Given the description of an element on the screen output the (x, y) to click on. 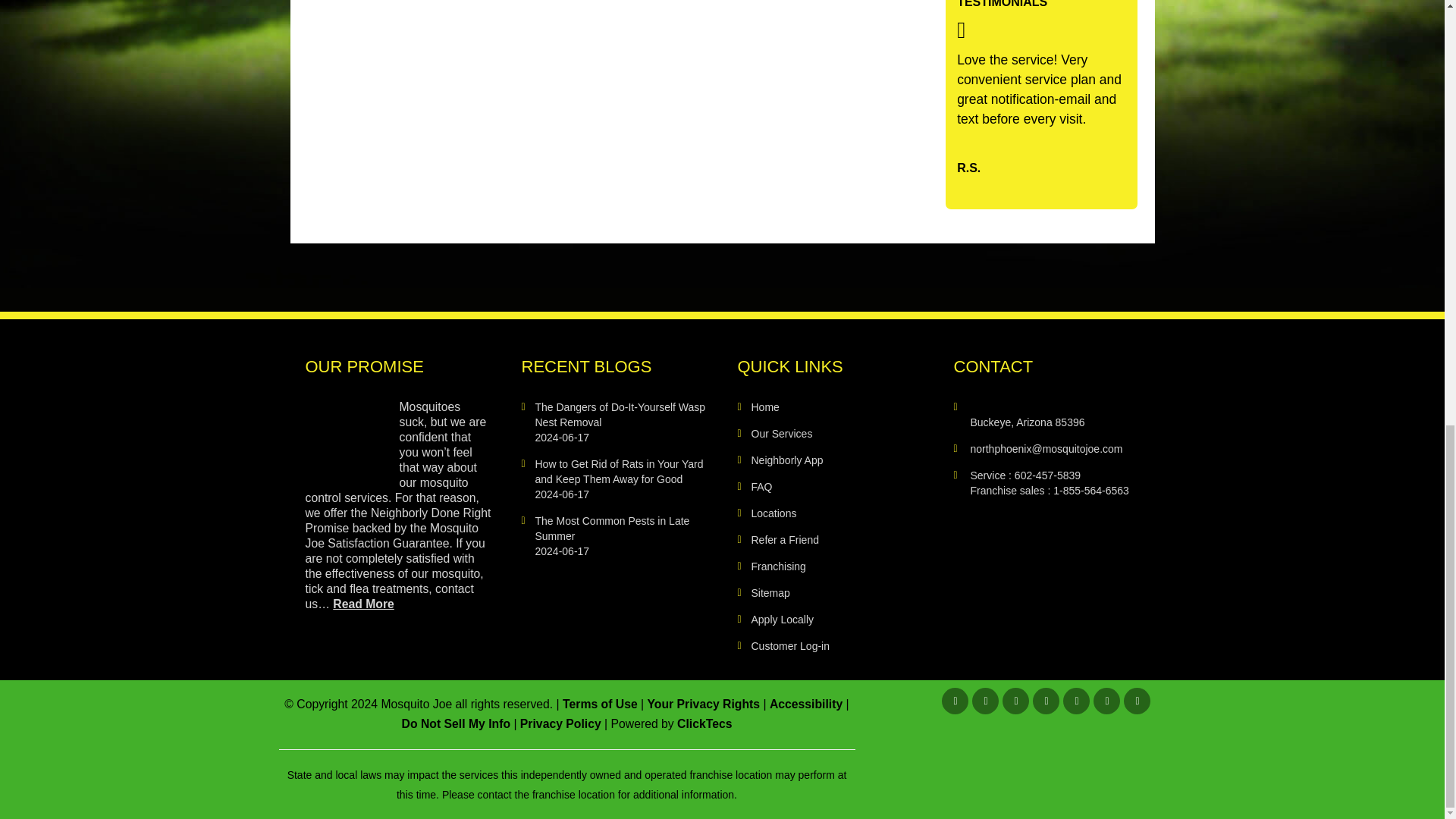
ClickTecs - Creativity with Expertise (704, 723)
